Given the description of an element on the screen output the (x, y) to click on. 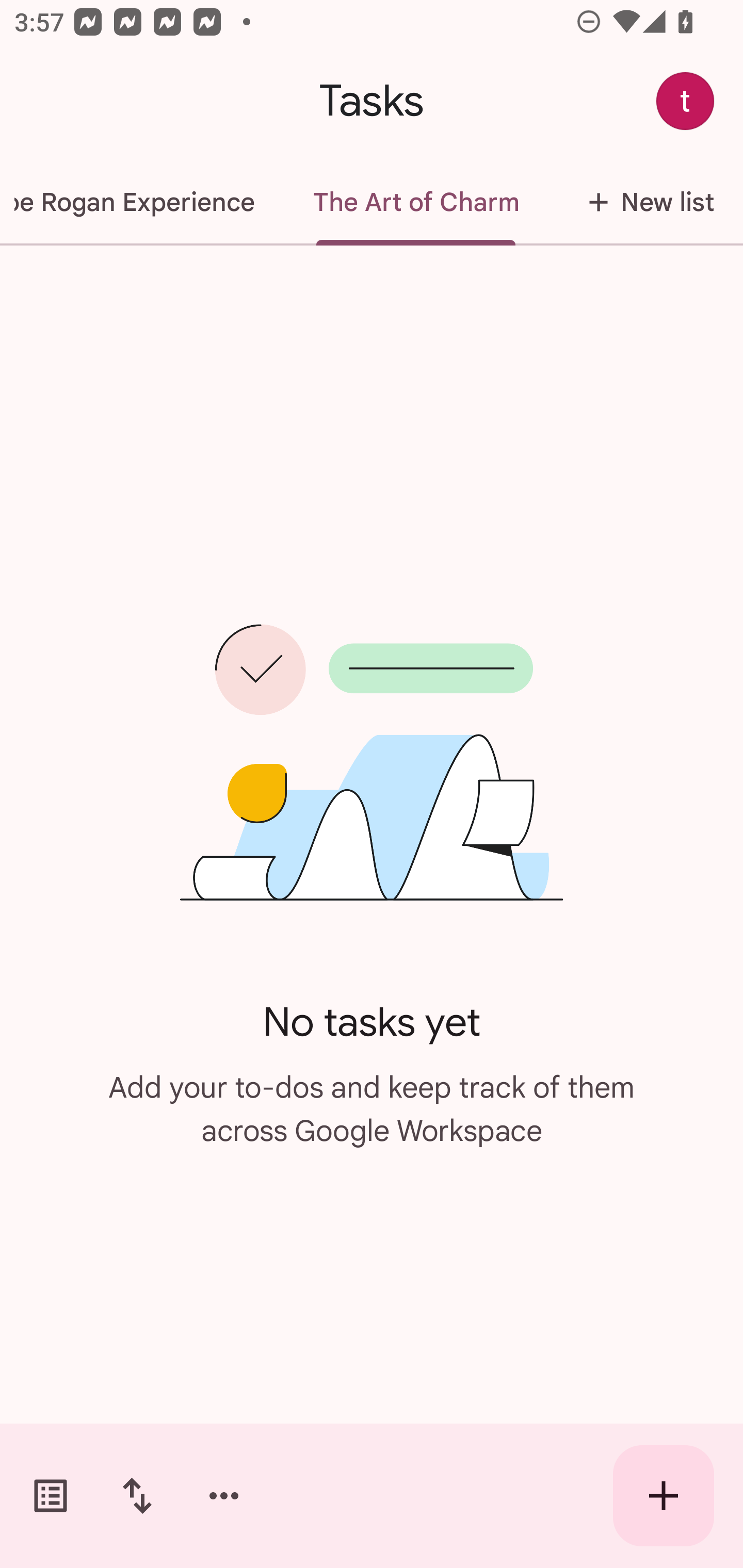
The Joe Rogan Experience (141, 202)
New list (645, 202)
Switch task lists (50, 1495)
Create new task (663, 1495)
Change sort order (136, 1495)
More options (223, 1495)
